Given the description of an element on the screen output the (x, y) to click on. 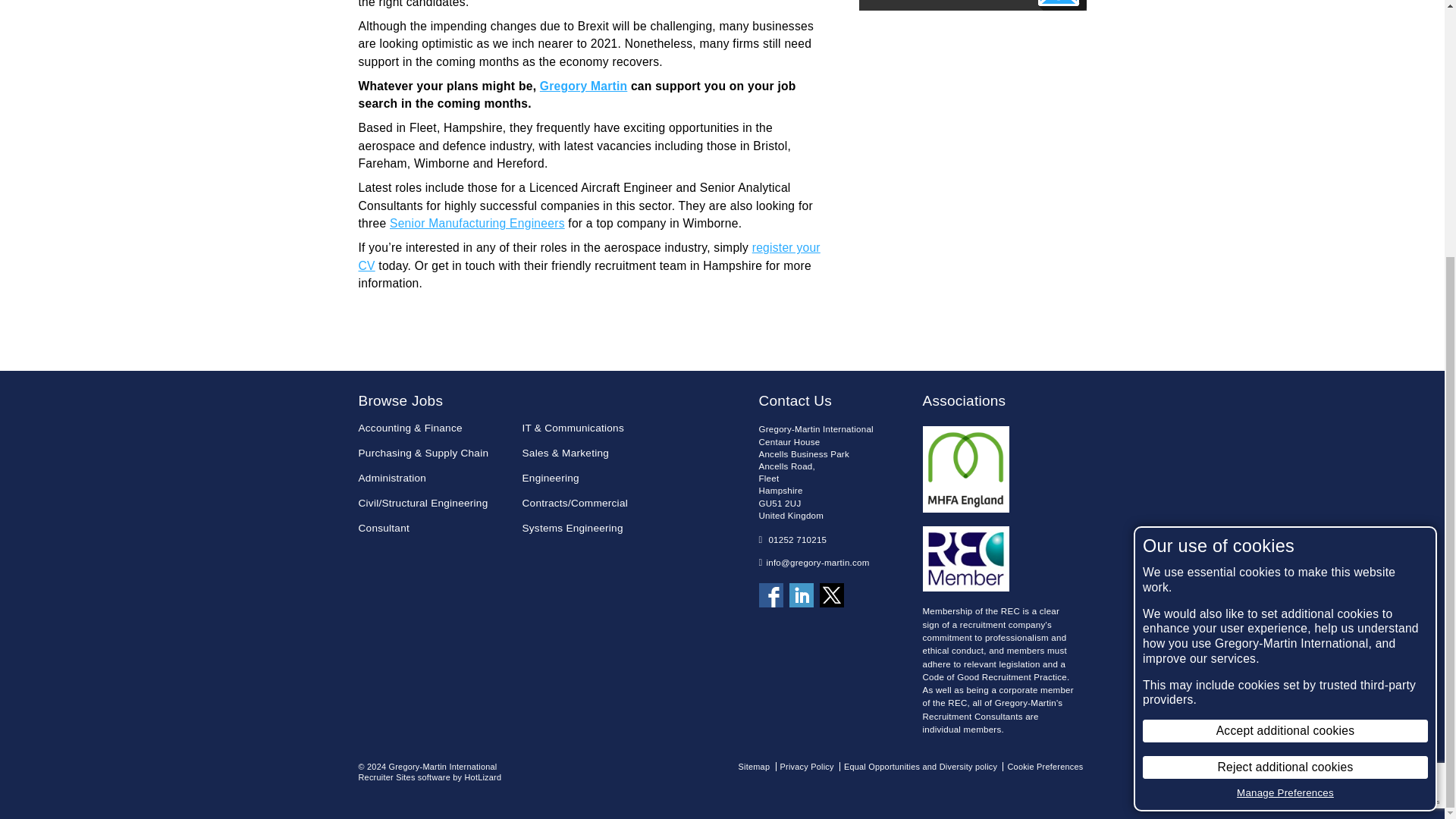
Engineering (599, 478)
Consultant (435, 528)
Administration (435, 478)
register your CV (588, 255)
Systems Engineering (599, 528)
Accept additional cookies (1285, 364)
Administration (435, 478)
Engineering (599, 478)
Follow us on Facebook (770, 595)
Systems Engineering (599, 528)
